Given the description of an element on the screen output the (x, y) to click on. 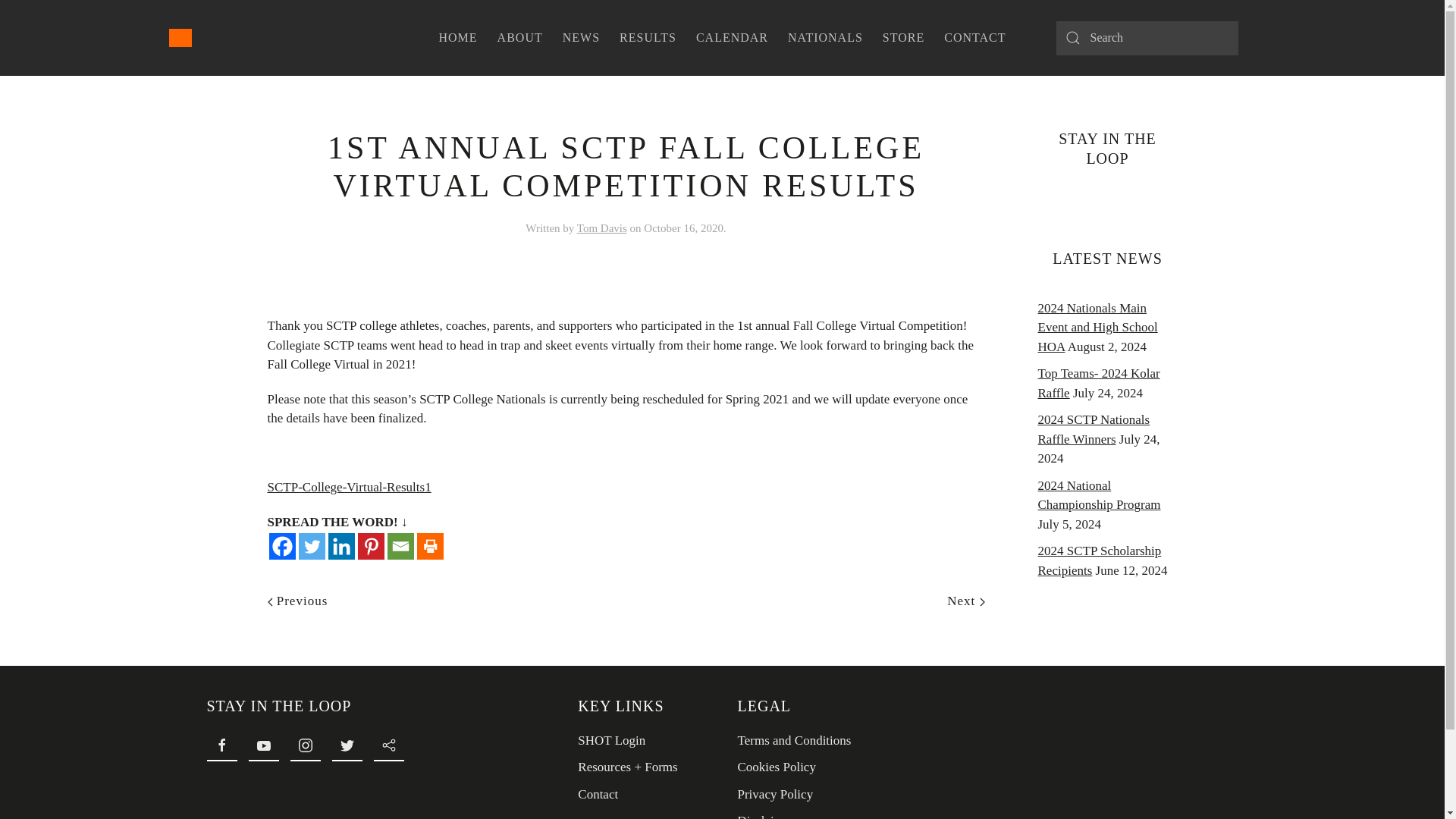
Tom Davis (601, 227)
Pinterest (371, 546)
STAY IN THE LOOP (365, 705)
Twitter (311, 546)
Print (430, 546)
RESULTS (647, 38)
CONTACT (974, 38)
SCTP-College-Virtual-Results1 (348, 486)
NATIONALS (824, 38)
Linkedin (340, 546)
